Given the description of an element on the screen output the (x, y) to click on. 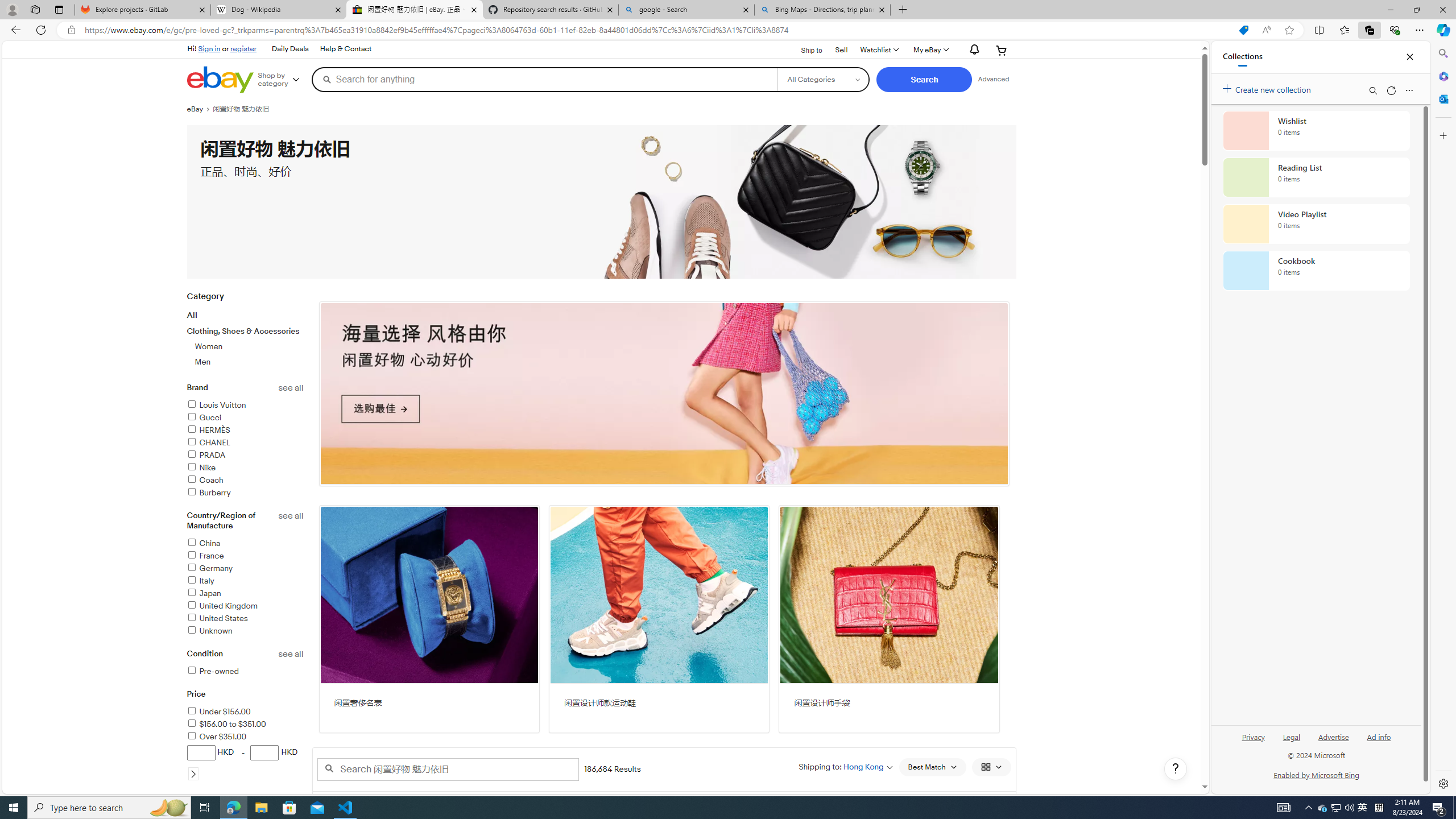
eBay Home (219, 79)
PRADA (205, 455)
eBay (199, 108)
Your shopping cart (1001, 49)
United Kingdom (221, 605)
AutomationID: gh-eb-Alerts (972, 49)
Help & Contact (345, 49)
